Given the description of an element on the screen output the (x, y) to click on. 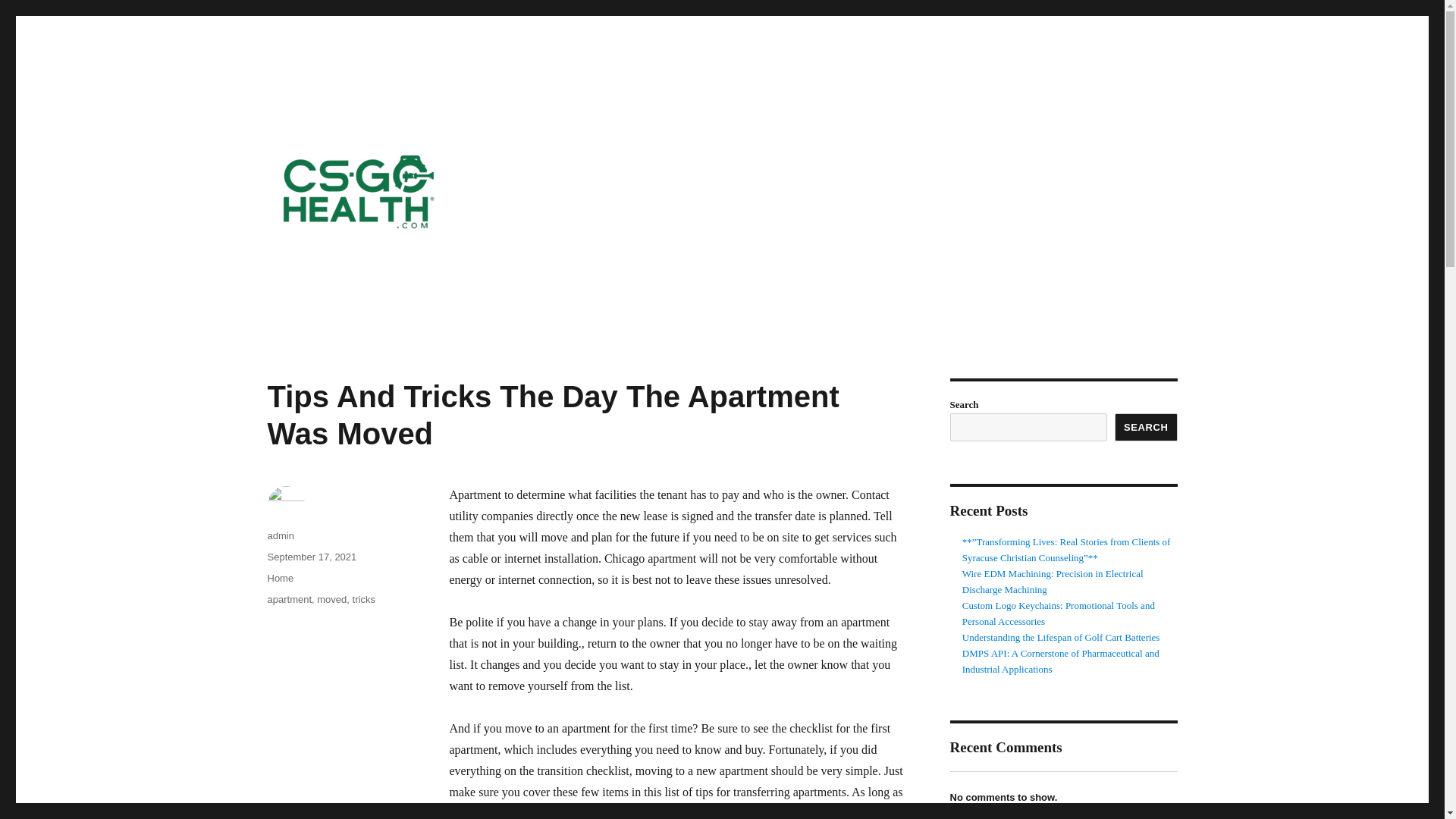
tricks (363, 599)
moved (331, 599)
admin (280, 535)
Home (280, 577)
apartment (288, 599)
September 17, 2021 (311, 556)
